Given the description of an element on the screen output the (x, y) to click on. 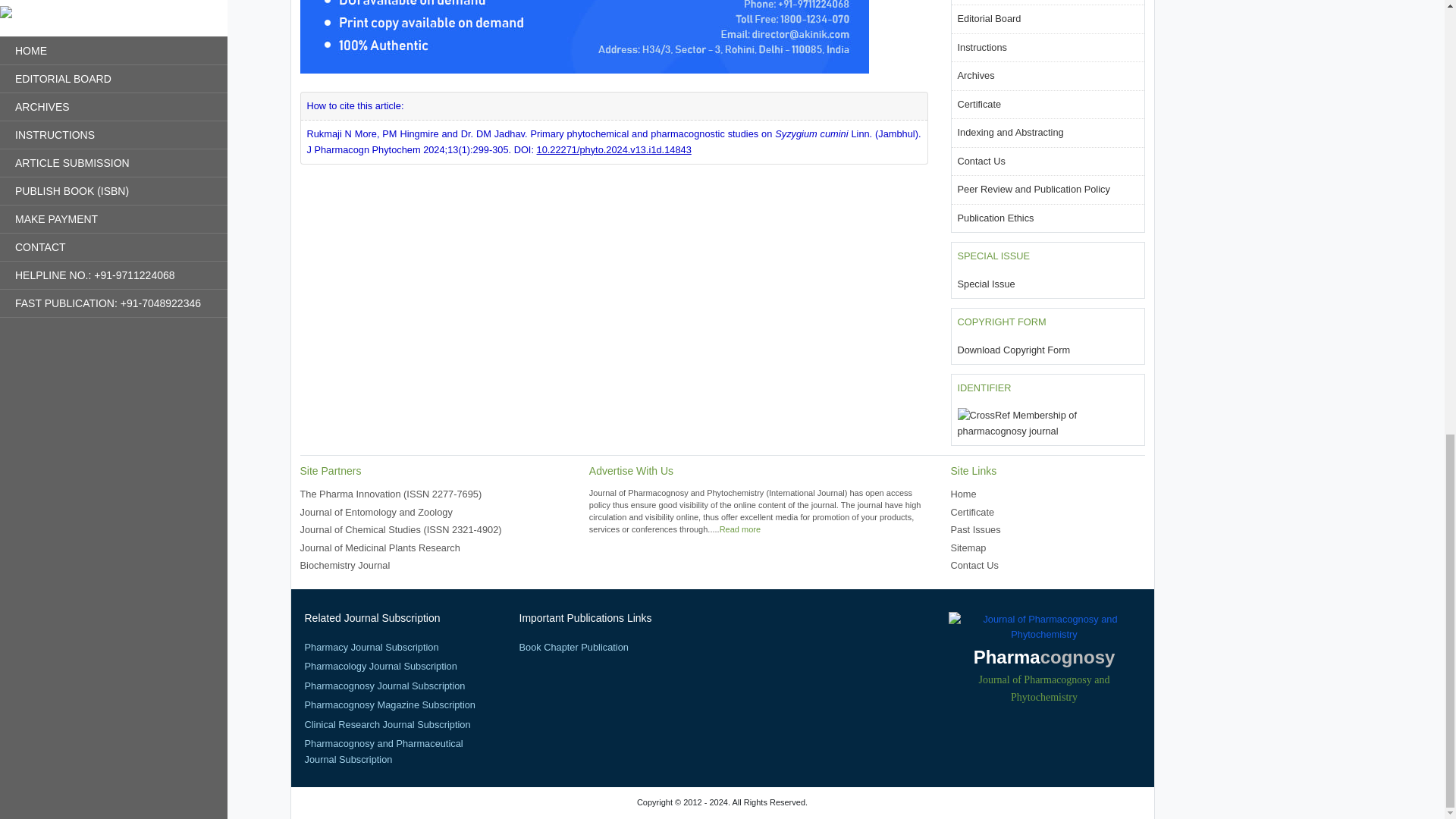
Archives (975, 75)
Contact Us (980, 161)
Special Issue (985, 283)
Peer Review and Publication Policy (1032, 188)
Download Copyright Form (1013, 349)
CrossRef Membership of pharmacognosy journal (1046, 422)
Publication Ethics (994, 217)
Read more (739, 528)
Indexing and Abstracting (1009, 132)
Certificate (978, 103)
Journal of Medicinal Plants Research (379, 547)
Instructions (981, 47)
Biochemistry Journal (344, 564)
Editorial Board (988, 18)
Journal of Entomology and Zoology (375, 511)
